Given the description of an element on the screen output the (x, y) to click on. 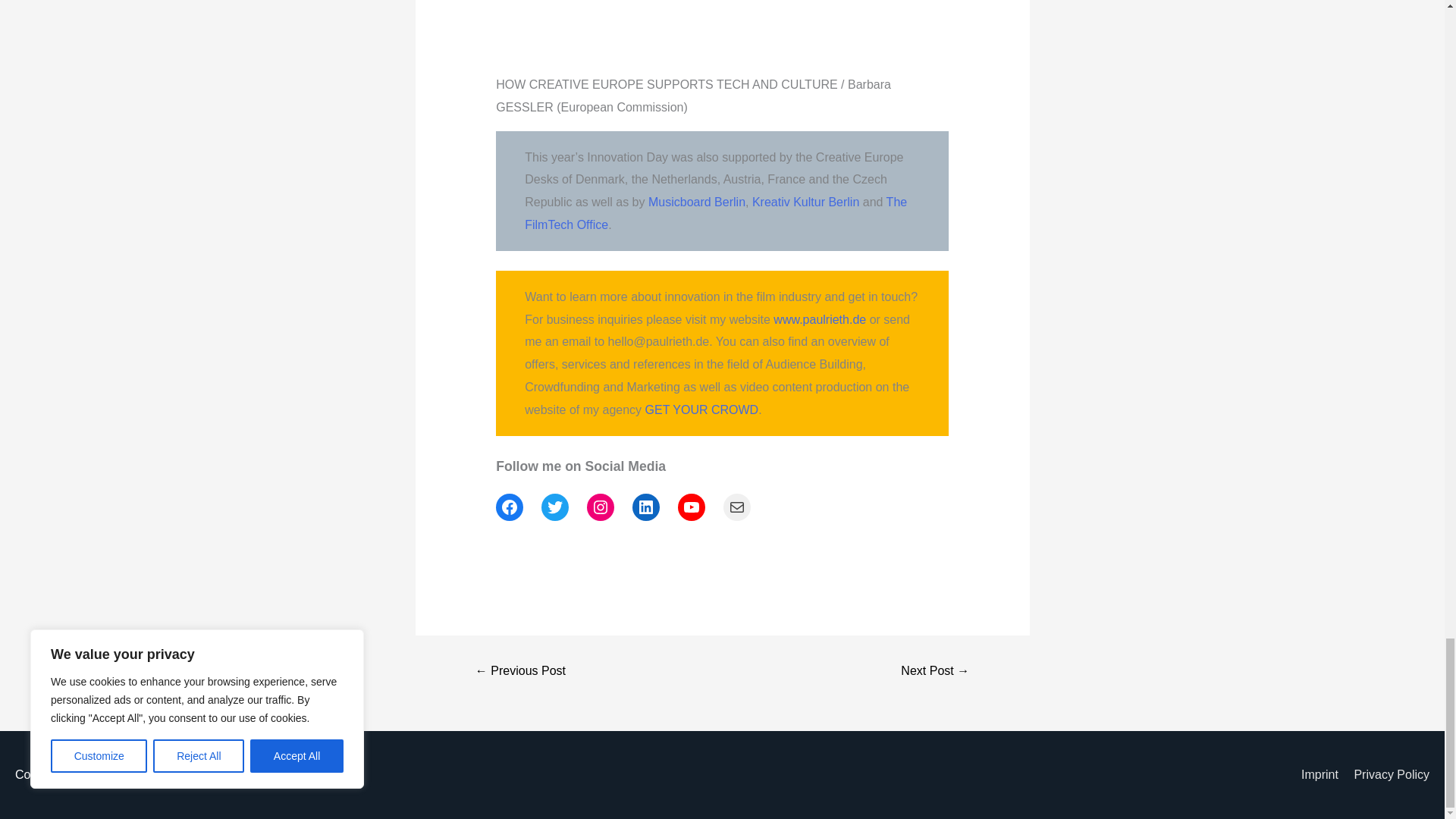
New opportunities for the creative industries? (934, 671)
